Given the description of an element on the screen output the (x, y) to click on. 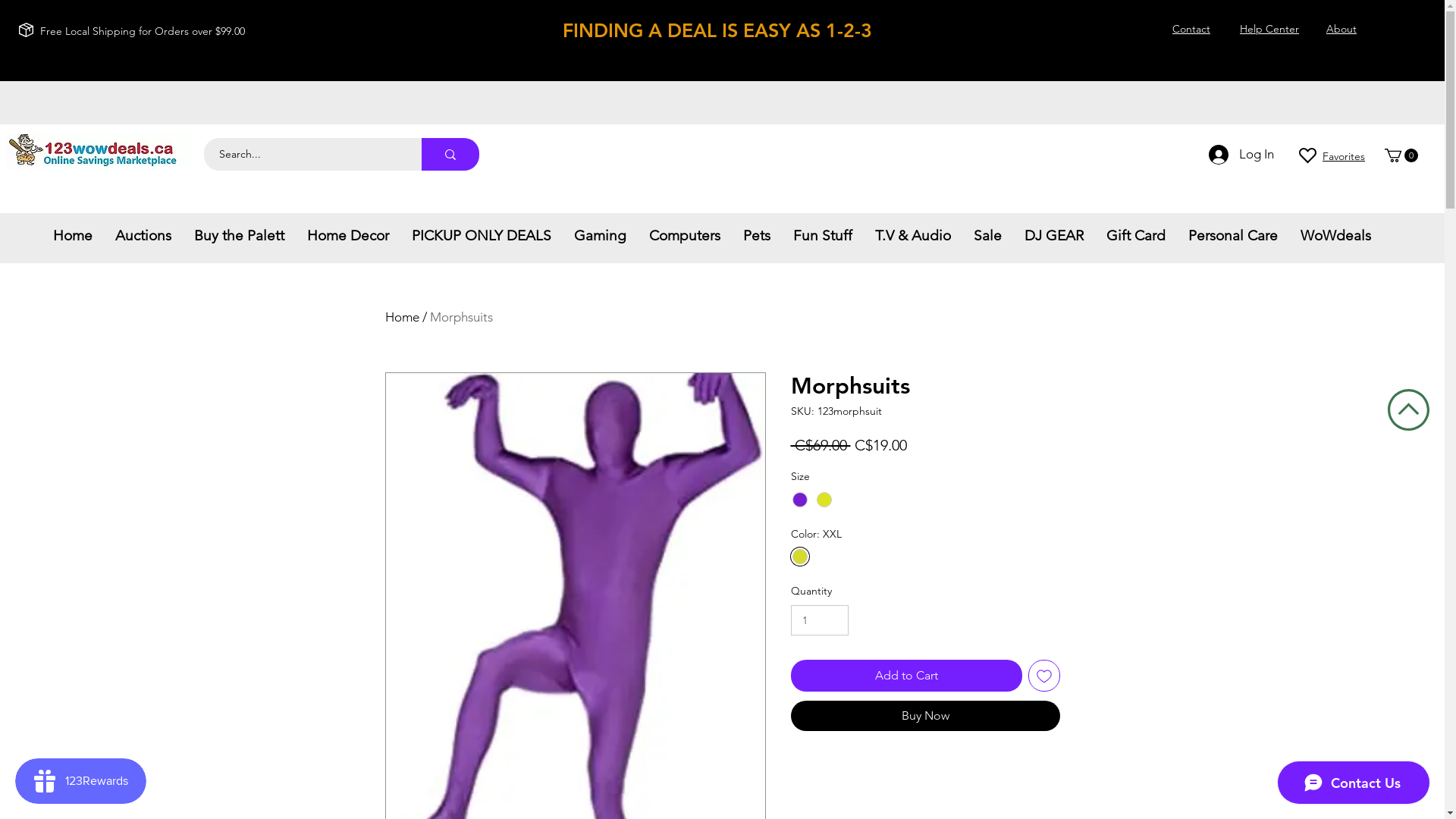
Auctions Element type: text (142, 235)
Buy the Palett Element type: text (238, 235)
PICKUP ONLY DEALS Element type: text (481, 235)
Personal Care Element type: text (1232, 235)
Morphsuits Element type: text (460, 316)
Home Element type: text (402, 316)
Help Center Element type: text (1269, 28)
Home Decor Element type: text (347, 235)
Home Element type: text (72, 235)
0 Element type: text (1401, 155)
Pets Element type: text (756, 235)
Buy Now Element type: text (924, 715)
DJ GEAR Element type: text (1054, 235)
Sale Element type: text (987, 235)
WoWdeals Element type: text (1335, 235)
Smile.io Rewards Program Launcher Element type: hover (80, 780)
About Element type: text (1341, 28)
Log In Element type: text (1241, 154)
Favorites Element type: text (1343, 156)
Add to Cart Element type: text (905, 675)
Contact Element type: text (1191, 28)
Gift Card Element type: text (1135, 235)
